Given the description of an element on the screen output the (x, y) to click on. 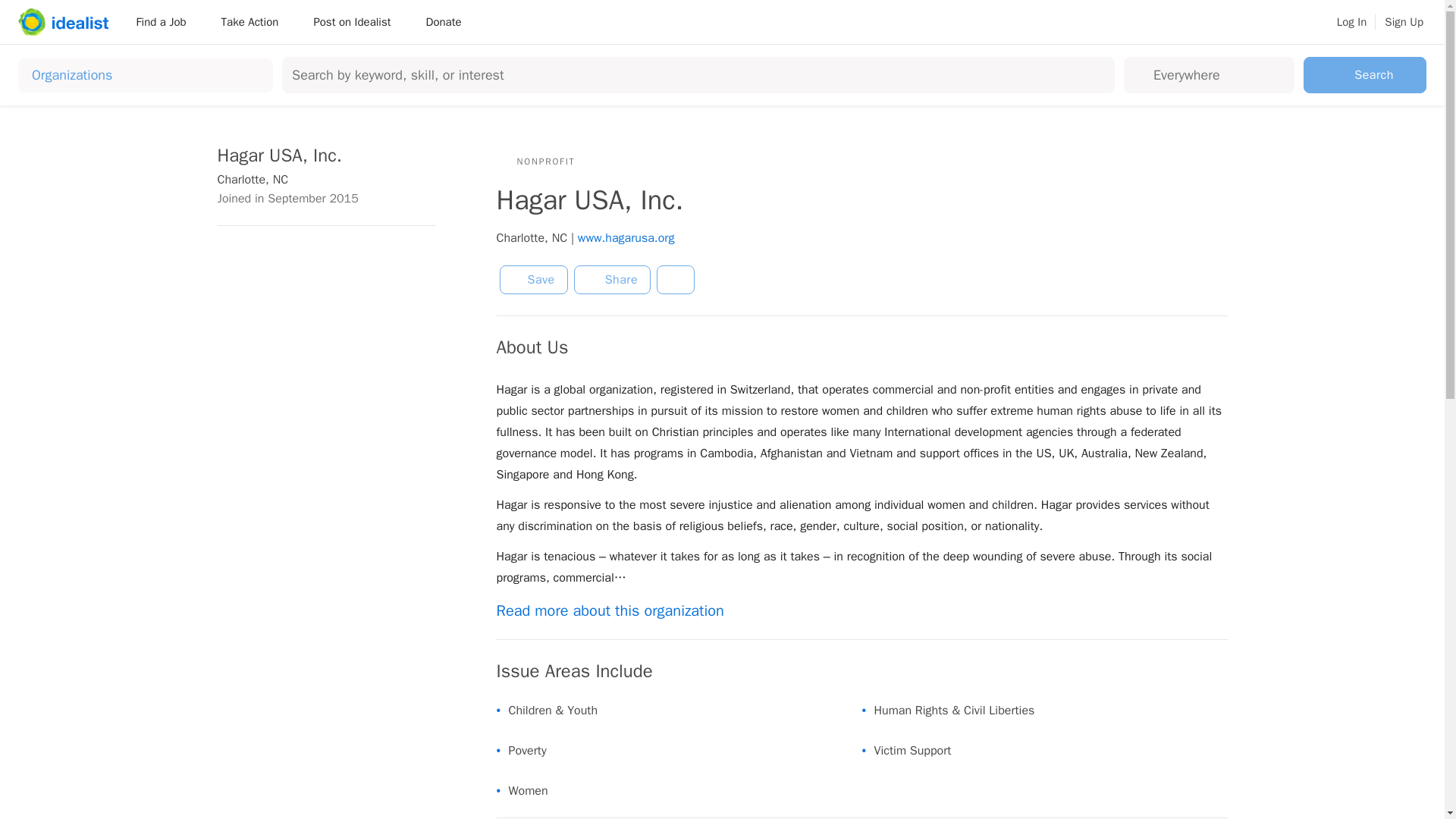
www.hagarusa.org (626, 237)
Log In (1351, 22)
Search (1364, 74)
Read more about this organization (626, 610)
Location (1219, 74)
Sign Up (1403, 22)
Save (533, 279)
Donate (443, 21)
Share (611, 279)
Save (533, 279)
